Given the description of an element on the screen output the (x, y) to click on. 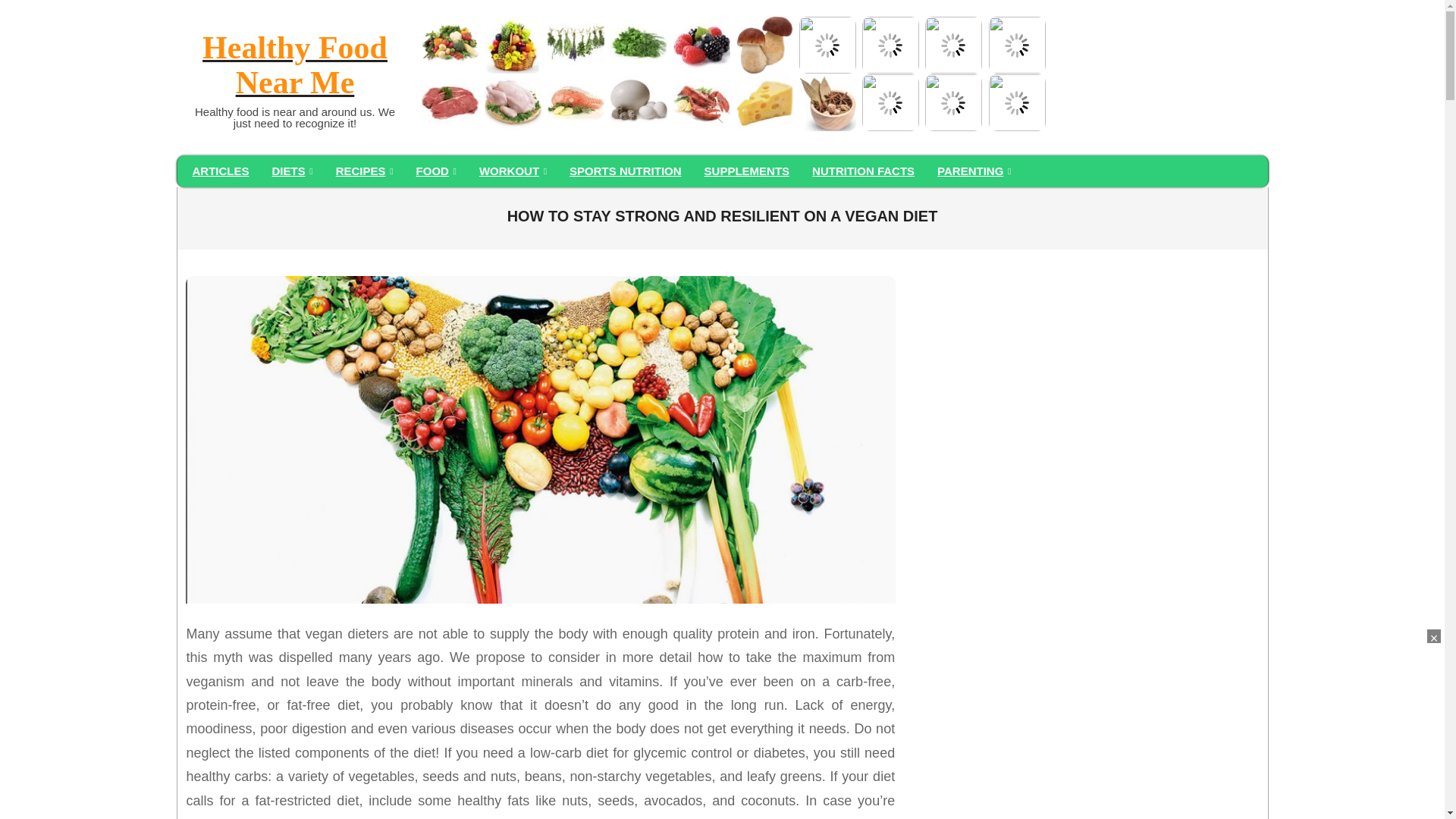
DIETS (292, 171)
Healthy Food Near Me (294, 67)
RECIPES (364, 171)
FOOD (435, 171)
ARTICLES (220, 171)
